Given the description of an element on the screen output the (x, y) to click on. 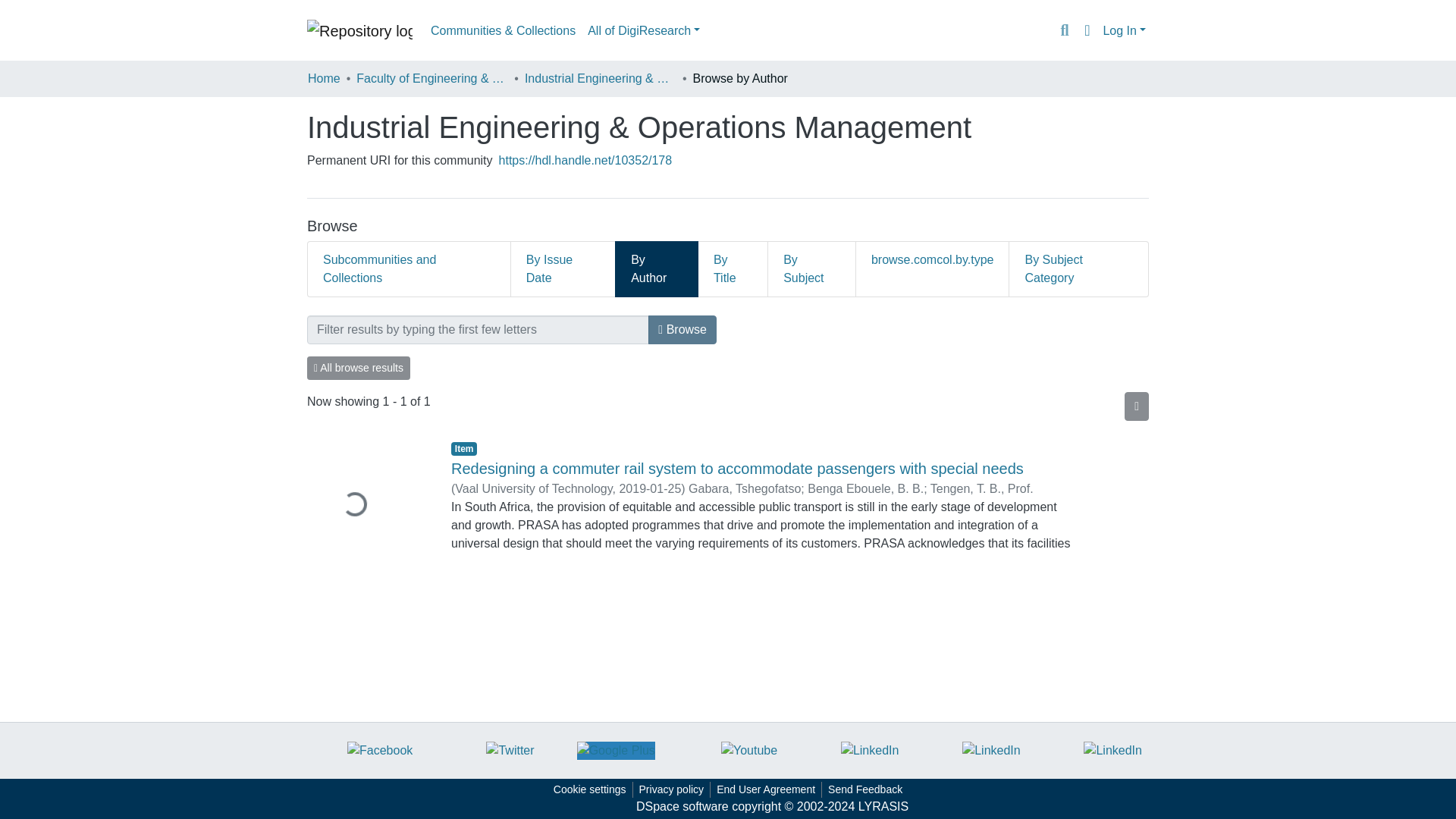
Google Plus (616, 750)
All of DigiResearch (643, 30)
Search (1064, 30)
By Author (656, 268)
By Issue Date (563, 268)
LinkedIn (870, 751)
Subcommunities and Collections (409, 268)
Browse (681, 329)
Log In (1123, 30)
All browse results (358, 368)
By Subject (812, 268)
LinkedIn (1112, 751)
LinkedIn (991, 751)
By Subject Category (1078, 268)
Facebook (379, 751)
